Given the description of an element on the screen output the (x, y) to click on. 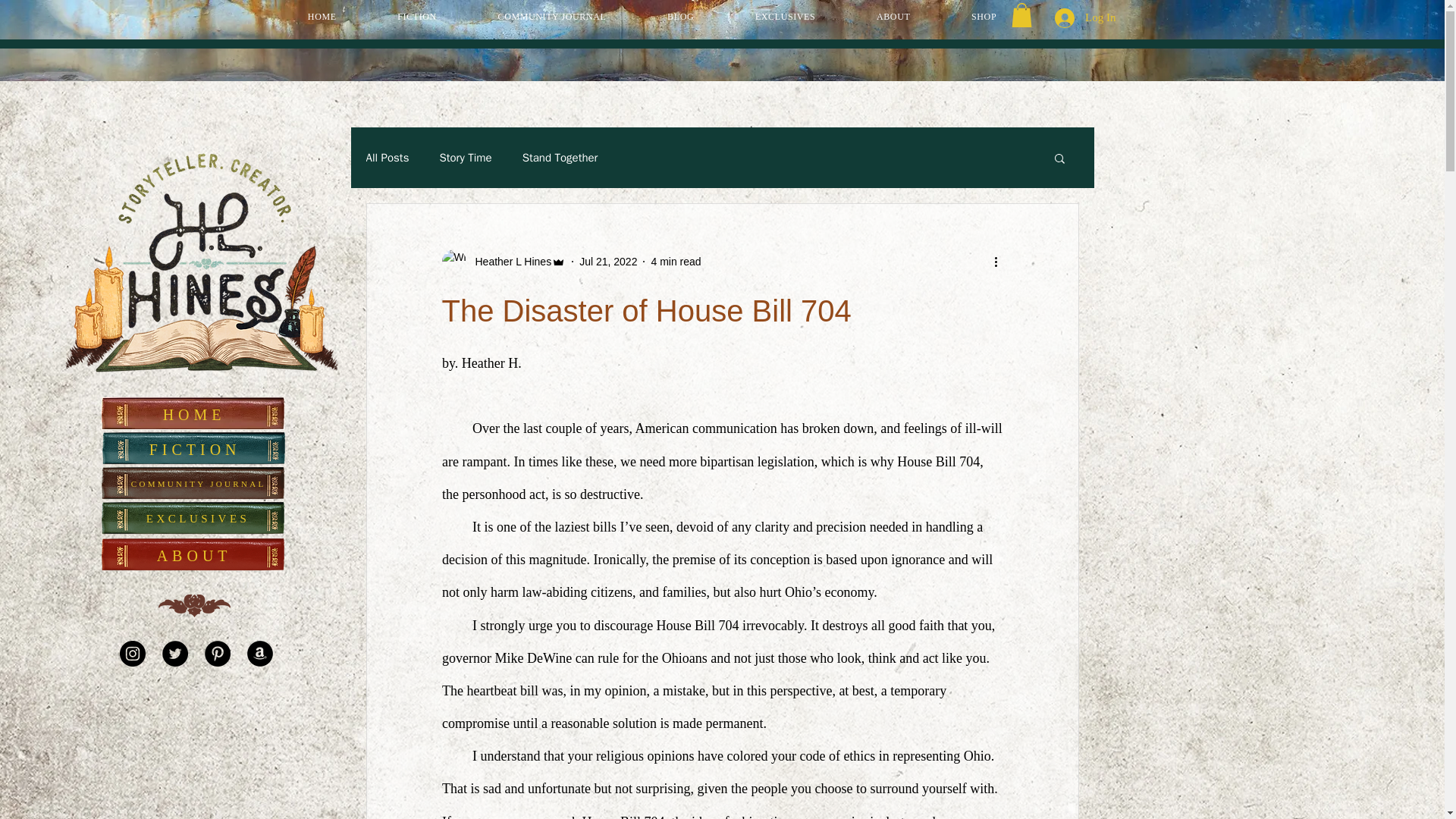
HOME (322, 17)
BLOG (681, 17)
Heather L Hines (503, 261)
Jul 21, 2022 (608, 261)
Log In (1084, 18)
Heather L Hines (508, 261)
FICTION (416, 17)
HOME (194, 414)
EXCLUSIVES (199, 518)
SHOP (984, 17)
Stand Together (560, 157)
COMMUNITY JOURNAL (551, 17)
All Posts (387, 157)
COMMUNITY JOURNAL (200, 483)
Story Time (465, 157)
